Given the description of an element on the screen output the (x, y) to click on. 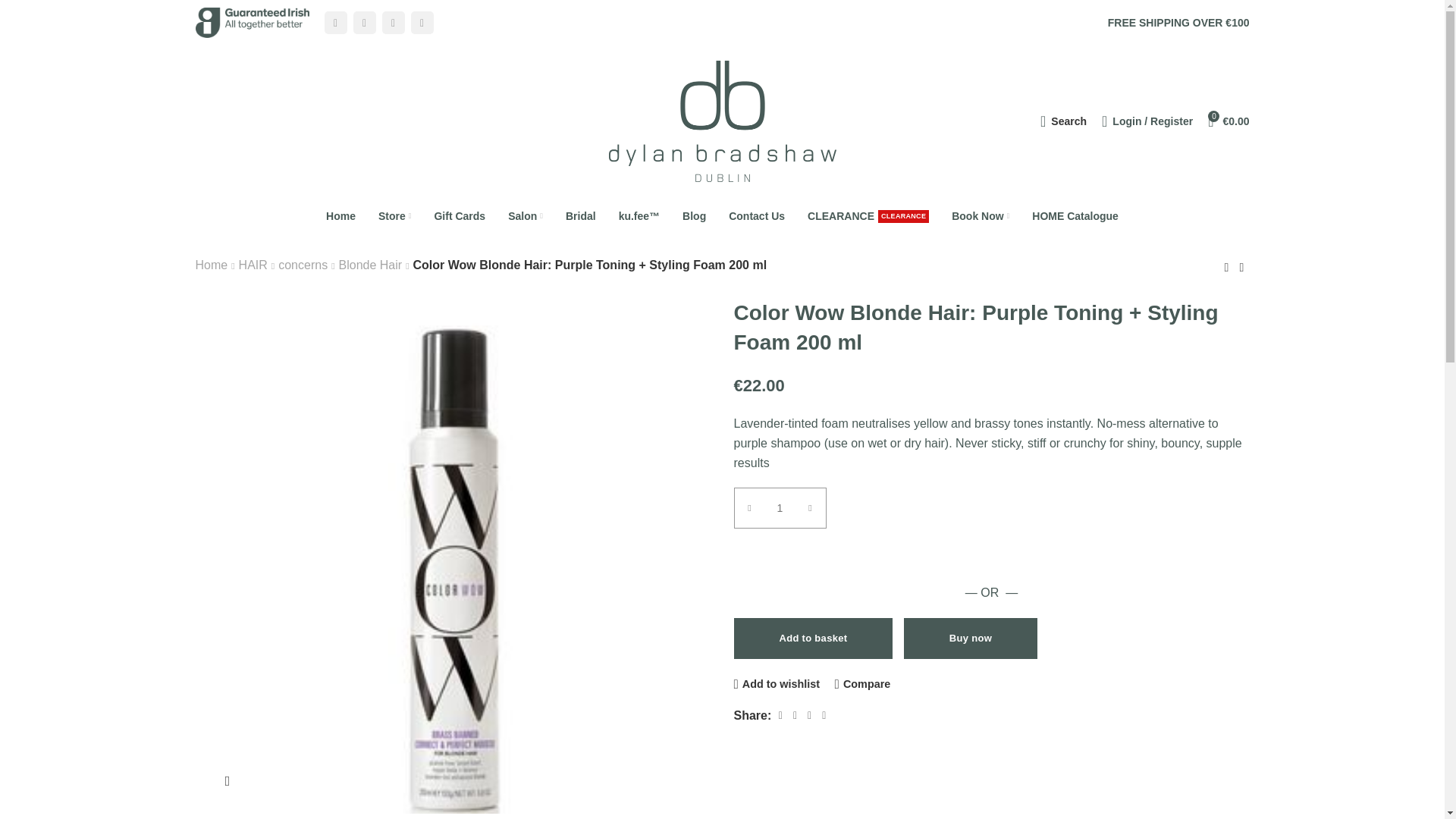
Store (394, 215)
Blog (694, 215)
Book Now (980, 215)
Bridal (580, 215)
Search (1063, 121)
Gift Cards (459, 215)
HOME Catalogue (1074, 215)
concerns (302, 264)
Home (340, 215)
Contact Us (756, 215)
HAIR (868, 215)
Blonde Hair (252, 264)
Salon (371, 264)
Home (525, 215)
